Given the description of an element on the screen output the (x, y) to click on. 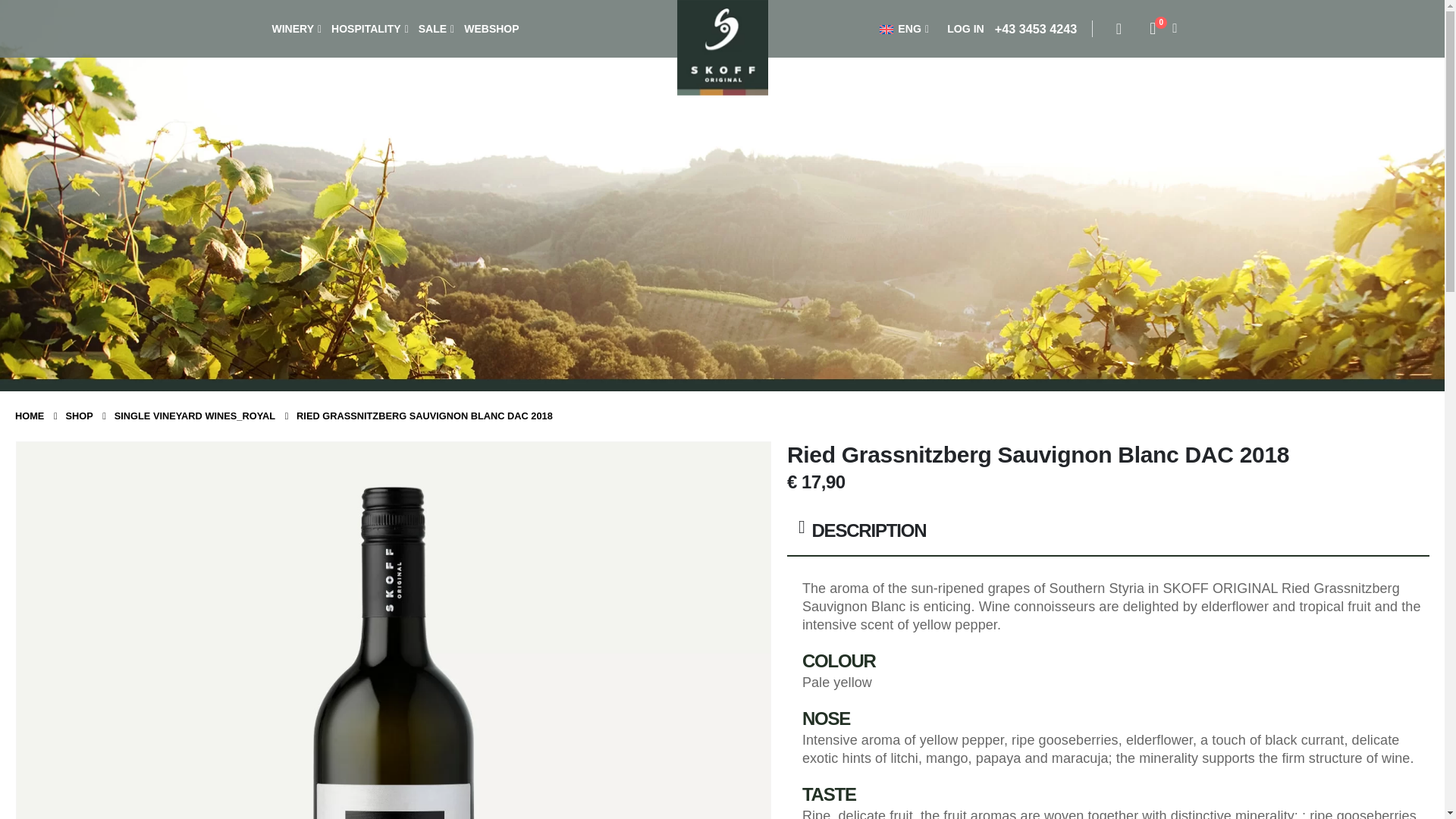
LOG IN (963, 28)
HOME (28, 416)
Go to Home Page (28, 416)
ENG (906, 28)
WEBSHOP (491, 28)
WINERY (296, 28)
SALE (435, 28)
SHOP (79, 416)
HOSPITALITY (369, 28)
